Given the description of an element on the screen output the (x, y) to click on. 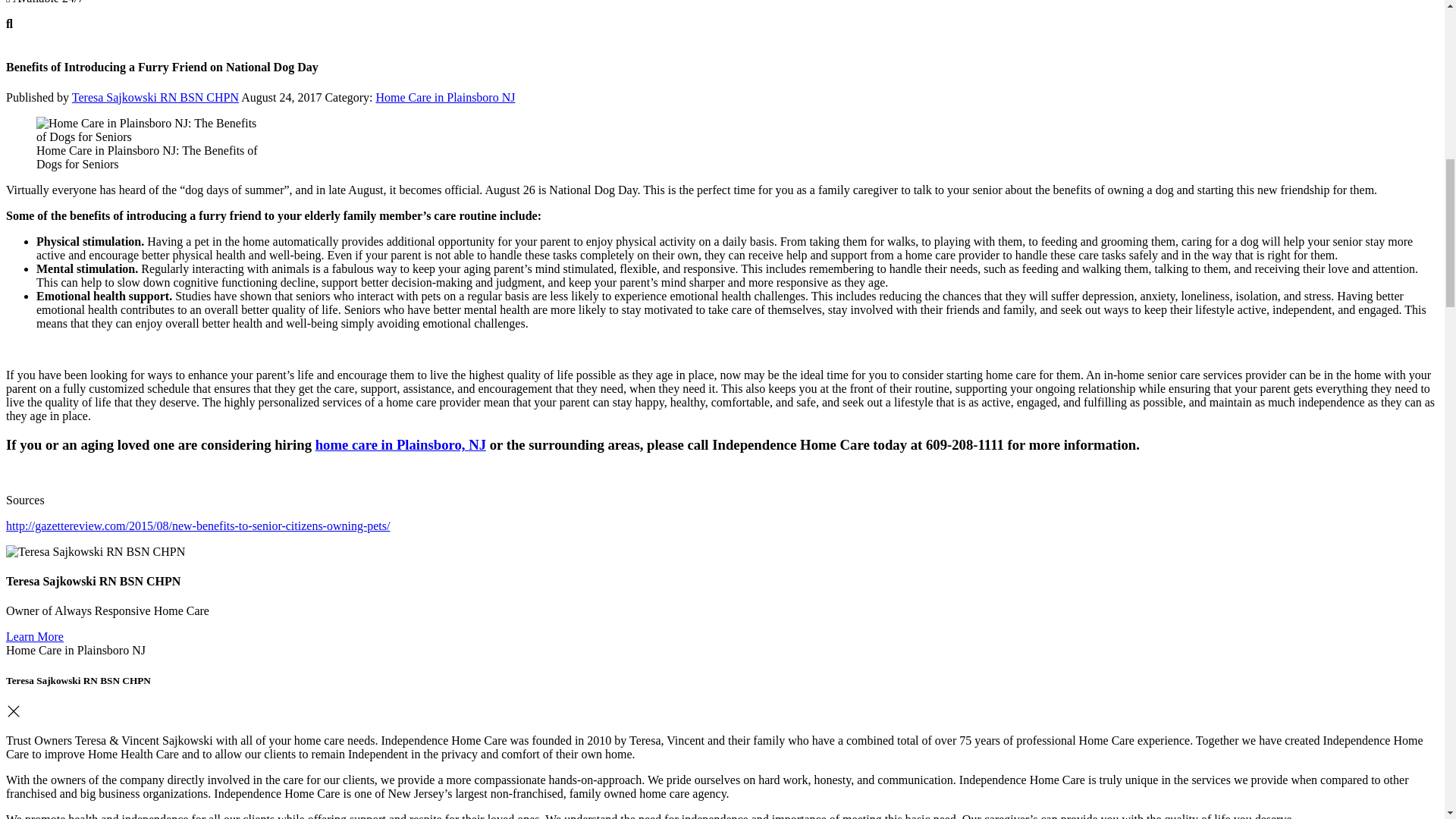
Home Care in Plainsboro NJ (445, 97)
Posts by Teresa Sajkowski RN BSN CHPN (154, 97)
Teresa Sajkowski RN BSN CHPN (154, 97)
home care in Plainsboro, NJ (400, 444)
Learn More (34, 635)
